Given the description of an element on the screen output the (x, y) to click on. 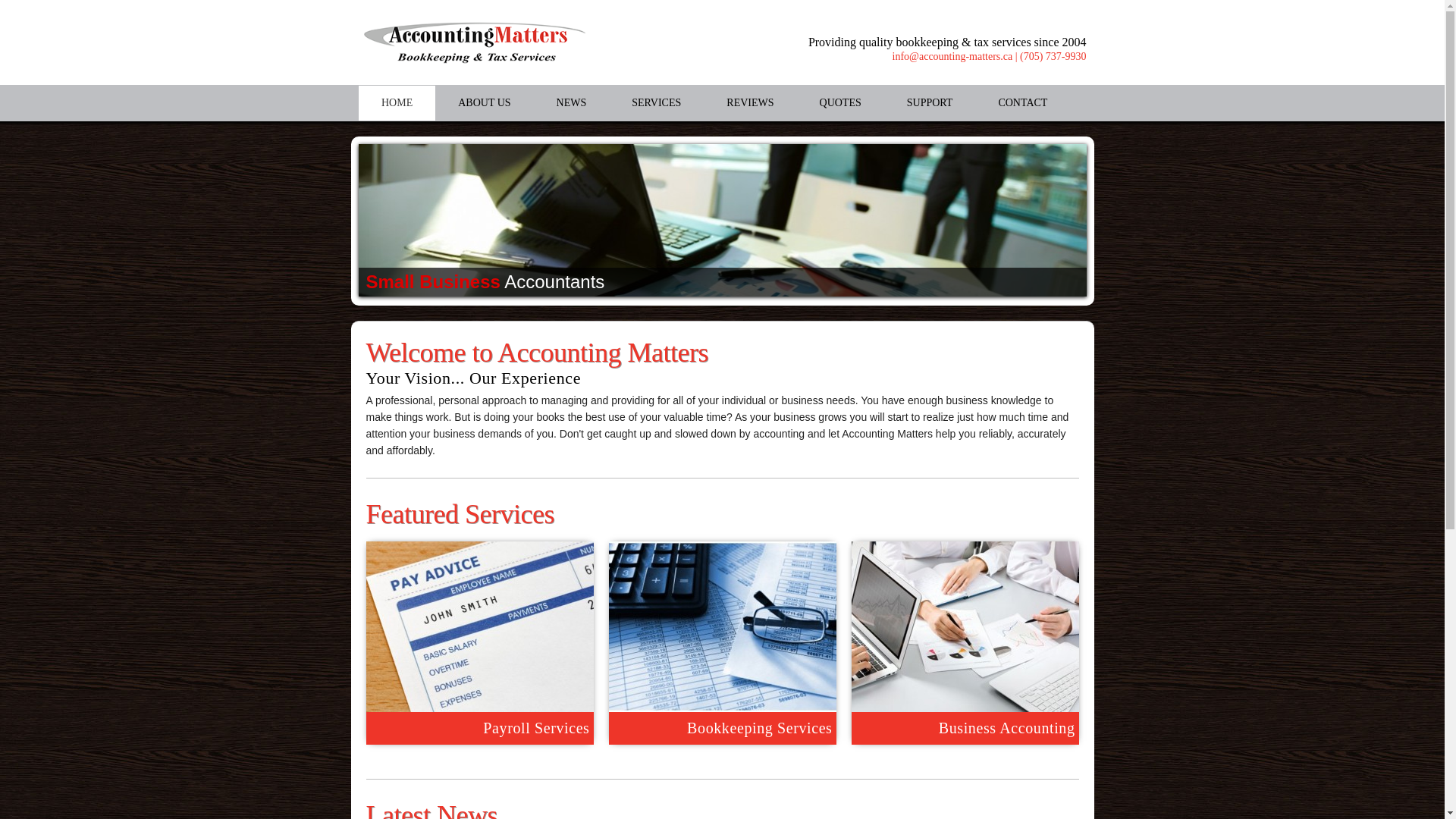
info@accounting-matters.ca Element type: text (952, 56)
Bookkeeping Services Element type: text (725, 728)
HOME Element type: text (396, 102)
NEWS Element type: text (571, 102)
QUOTES Element type: text (840, 102)
Business Accounting Element type: text (967, 728)
Payroll Services Element type: text (482, 728)
ABOUT US Element type: text (484, 102)
SUPPORT Element type: text (929, 102)
SERVICES Element type: text (655, 102)
CONTACT Element type: text (1022, 102)
REVIEWS Element type: text (749, 102)
